Given the description of an element on the screen output the (x, y) to click on. 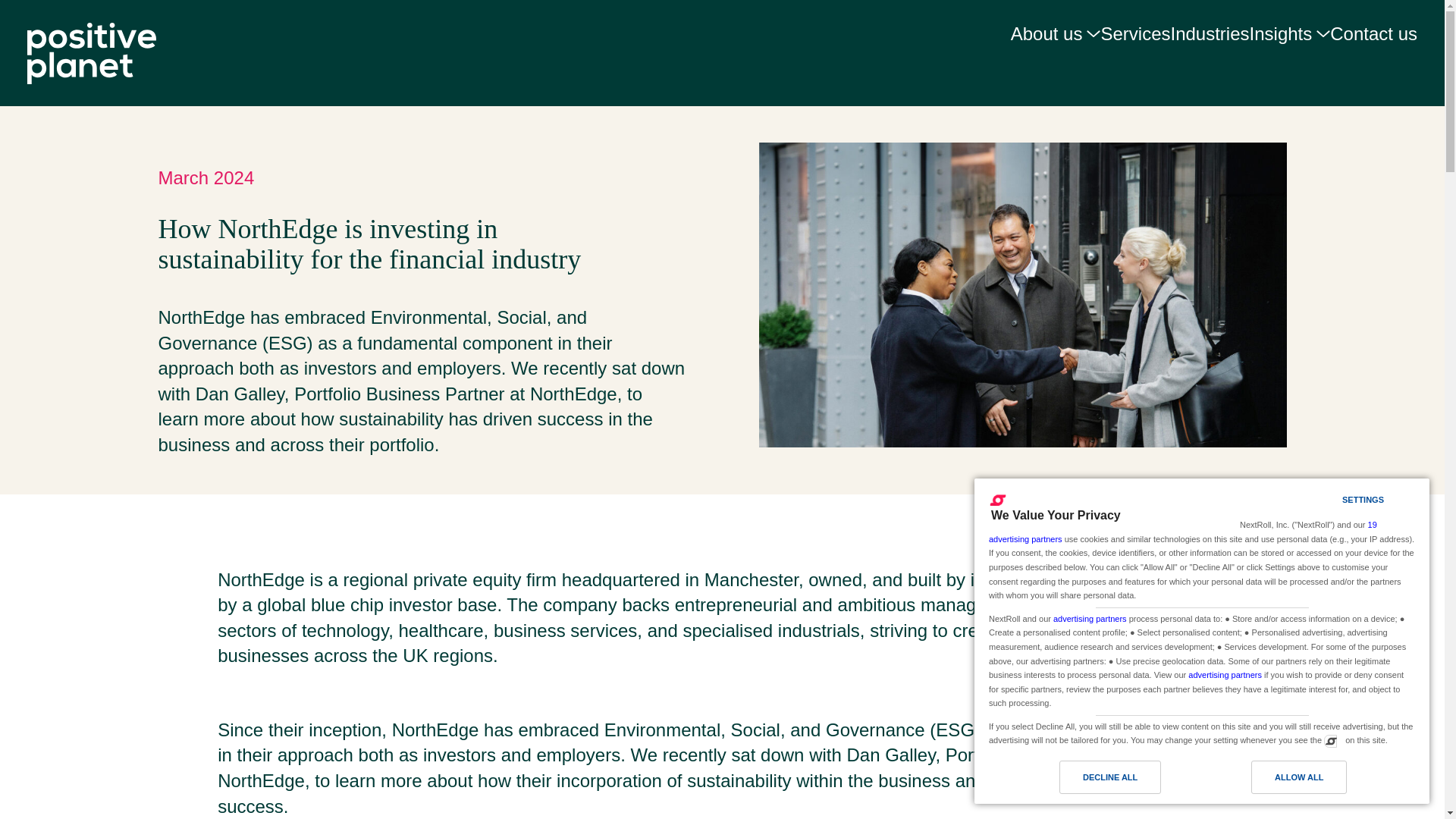
About us (1055, 42)
Industries (1209, 42)
Manage consent preferences (1330, 740)
Insights (1289, 42)
Services (1135, 42)
